Given the description of an element on the screen output the (x, y) to click on. 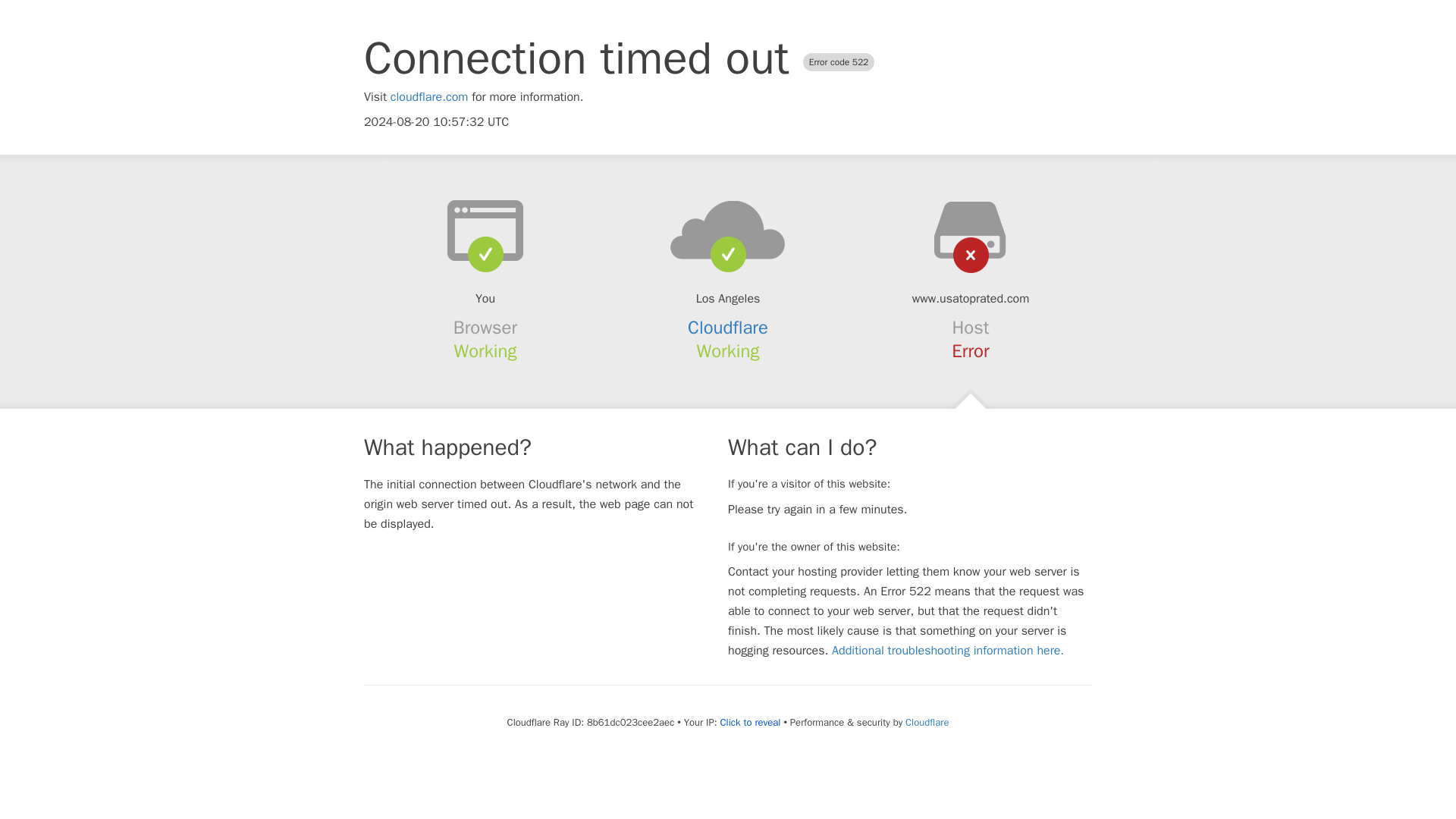
Click to reveal (750, 722)
Cloudflare (727, 327)
Additional troubleshooting information here. (947, 650)
cloudflare.com (429, 96)
Cloudflare (927, 721)
